Given the description of an element on the screen output the (x, y) to click on. 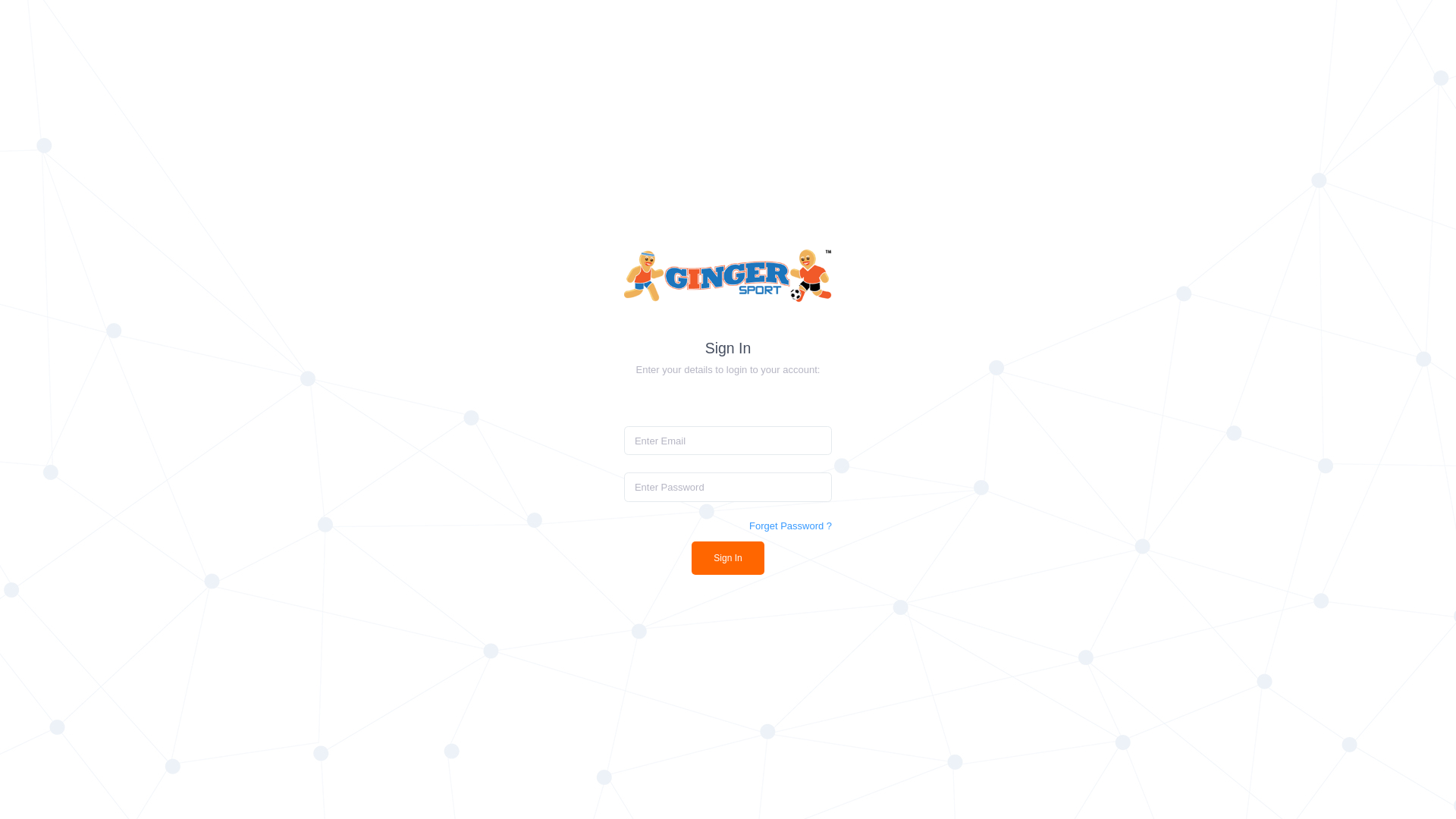
Forget Password ? Element type: text (790, 525)
Sign In Element type: text (727, 557)
